Given the description of an element on the screen output the (x, y) to click on. 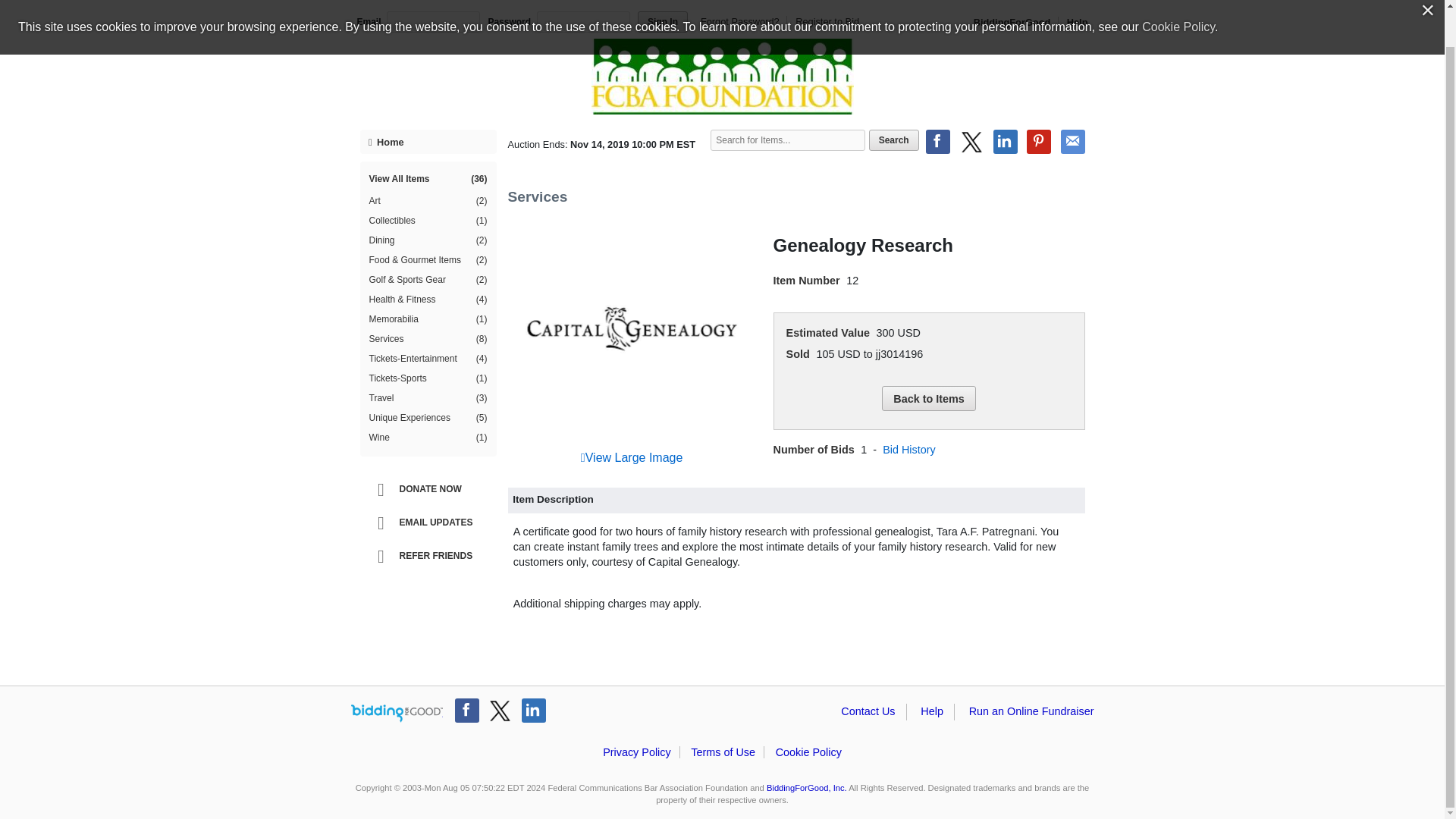
Home (427, 141)
Follow on Twitter (499, 710)
Search (893, 139)
Back to Items (928, 397)
REFER FRIENDS (431, 556)
Contact Us (868, 711)
EMAIL UPDATES (431, 523)
DONATE NOW (431, 489)
View Large Image (631, 457)
Follow on Linked In (533, 710)
Sign In (662, 21)
Follow on Facebook (466, 710)
Back to Items (928, 397)
Email (1071, 141)
